Given the description of an element on the screen output the (x, y) to click on. 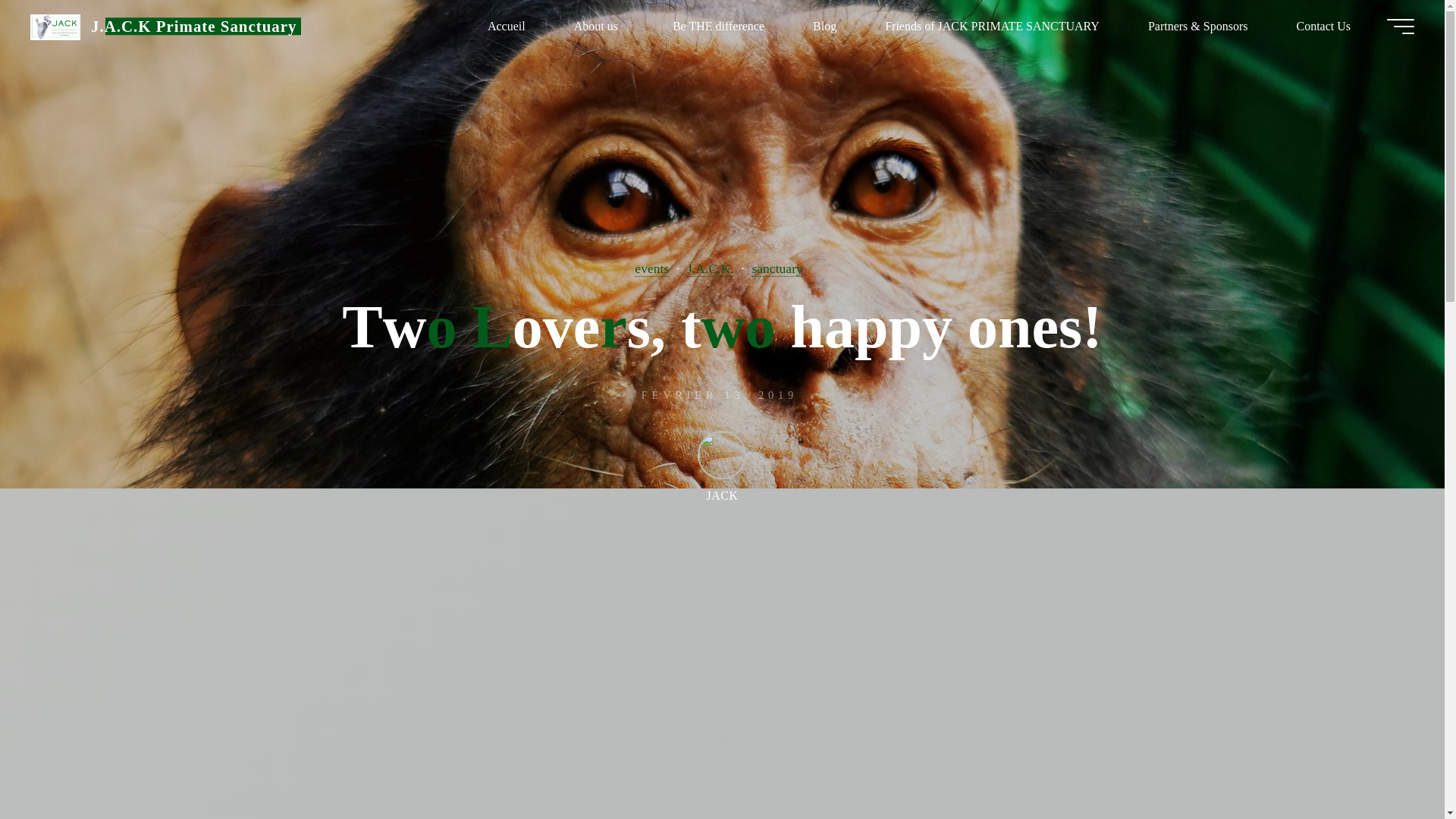
Lire la suite (721, 724)
J.A.C.K Primate Sanctuary (193, 26)
sanctuary (776, 268)
J.A.C.K Primate Sanctuary (55, 25)
events (651, 268)
Friends of JACK PRIMATE SANCTUARY (992, 26)
About us (598, 26)
Be THE difference (718, 26)
One of the last bastions before extinction (193, 26)
Accueil (506, 26)
Blog (824, 26)
Contact Us (1322, 26)
J.A.C.K. (710, 268)
